Given the description of an element on the screen output the (x, y) to click on. 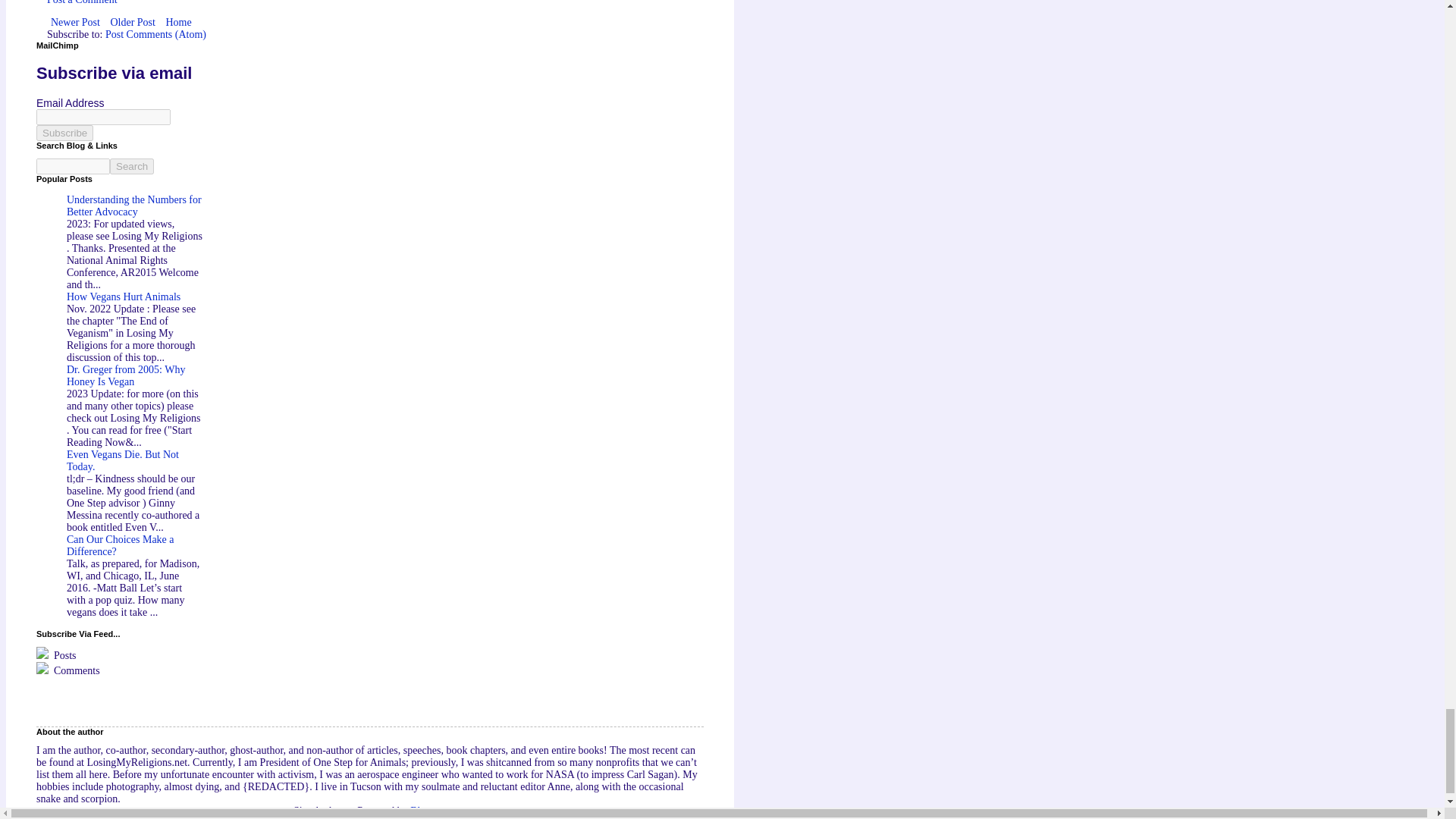
Older Post (132, 22)
Post a Comment (81, 2)
Search (132, 166)
Can Our Choices Make a Difference? (120, 545)
Older Post (132, 22)
Subscribe (64, 132)
search (132, 166)
search (73, 166)
Blogger (427, 810)
Home (178, 22)
Newer Post (74, 22)
Even Vegans Die. But Not Today. (122, 460)
How Vegans Hurt Animals (123, 296)
Understanding the Numbers for Better Advocacy (134, 205)
Newer Post (74, 22)
